Given the description of an element on the screen output the (x, y) to click on. 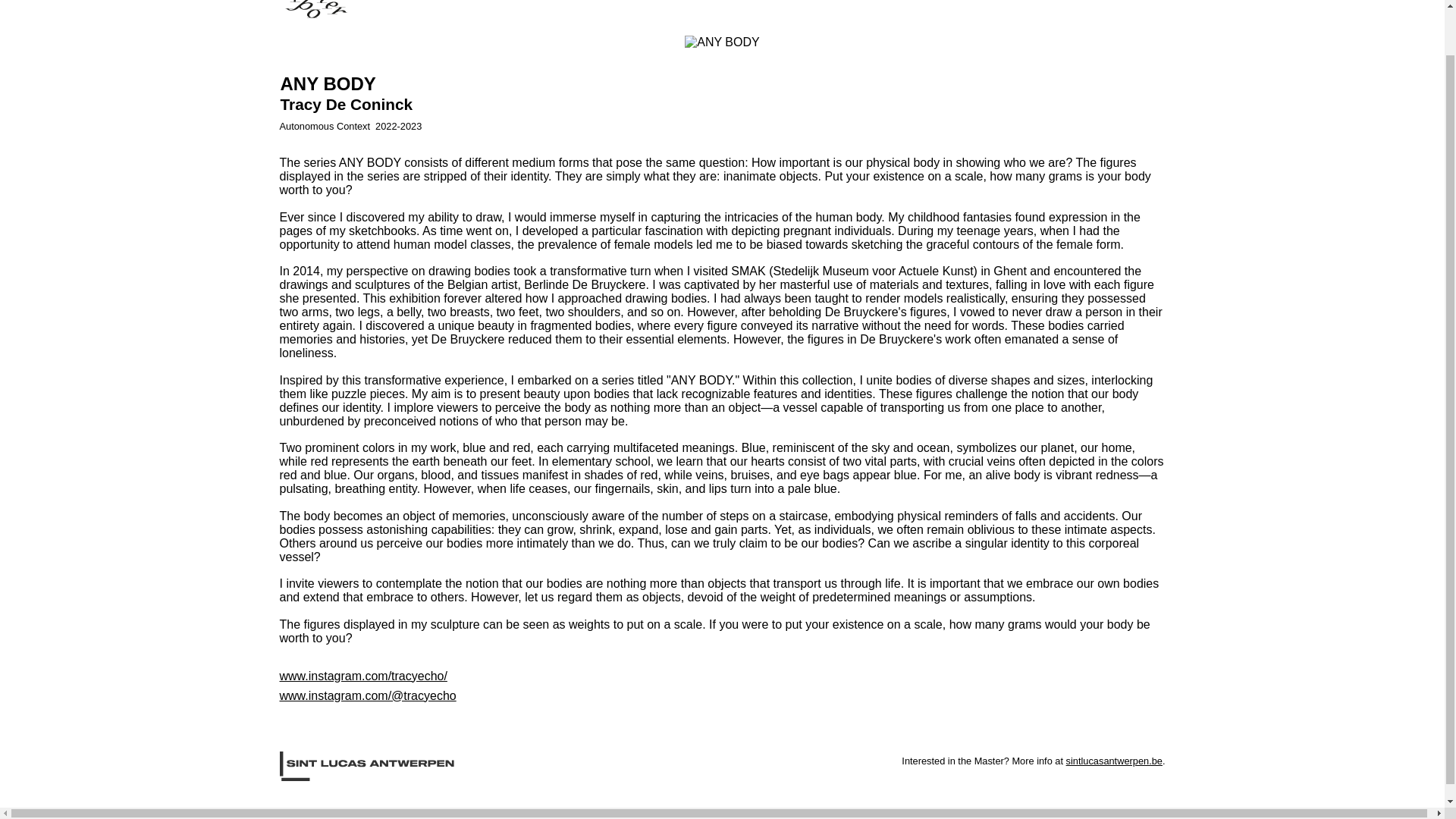
sintlucasantwerpen.be (1113, 760)
